Given the description of an element on the screen output the (x, y) to click on. 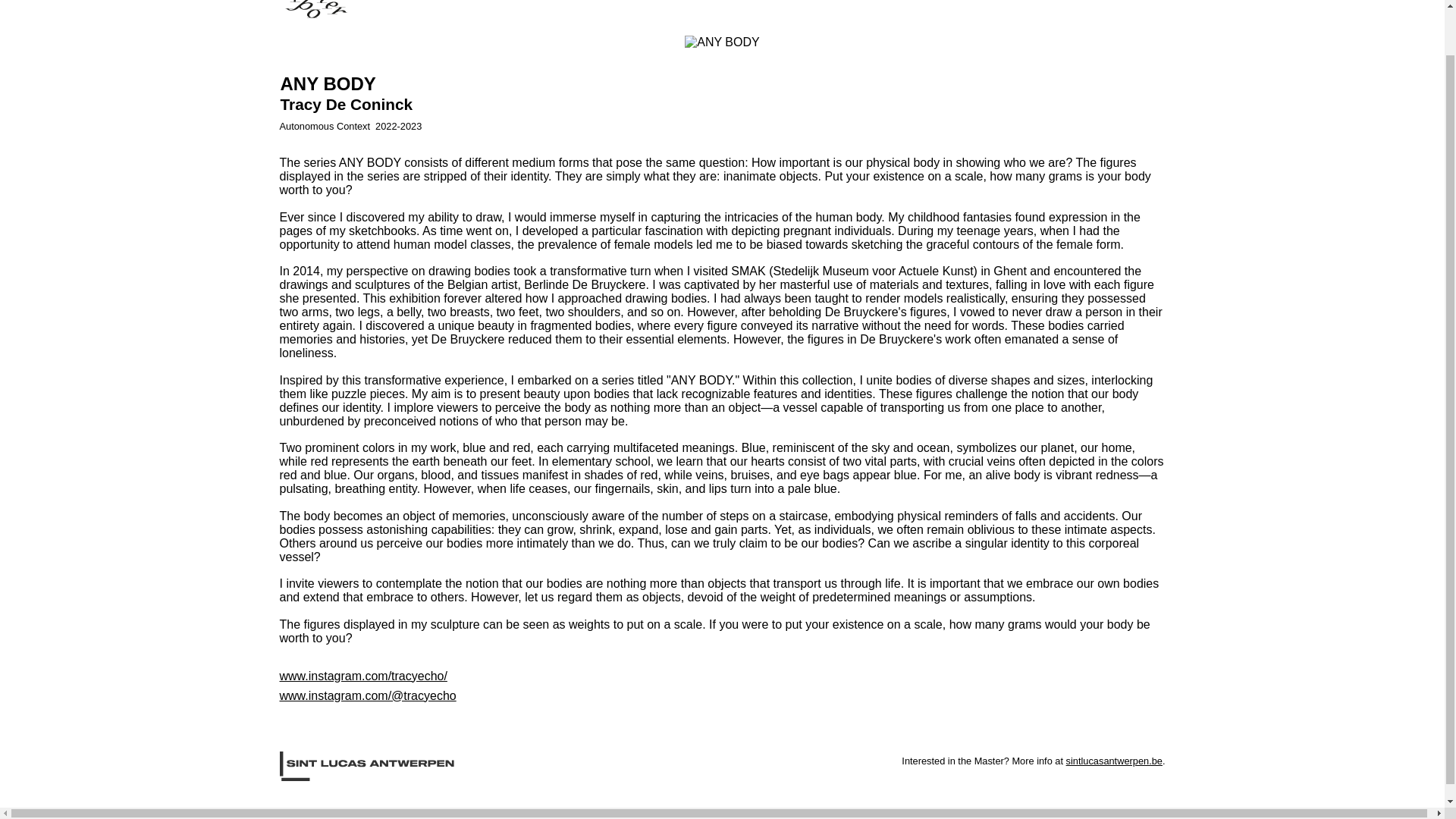
sintlucasantwerpen.be (1113, 760)
